Given the description of an element on the screen output the (x, y) to click on. 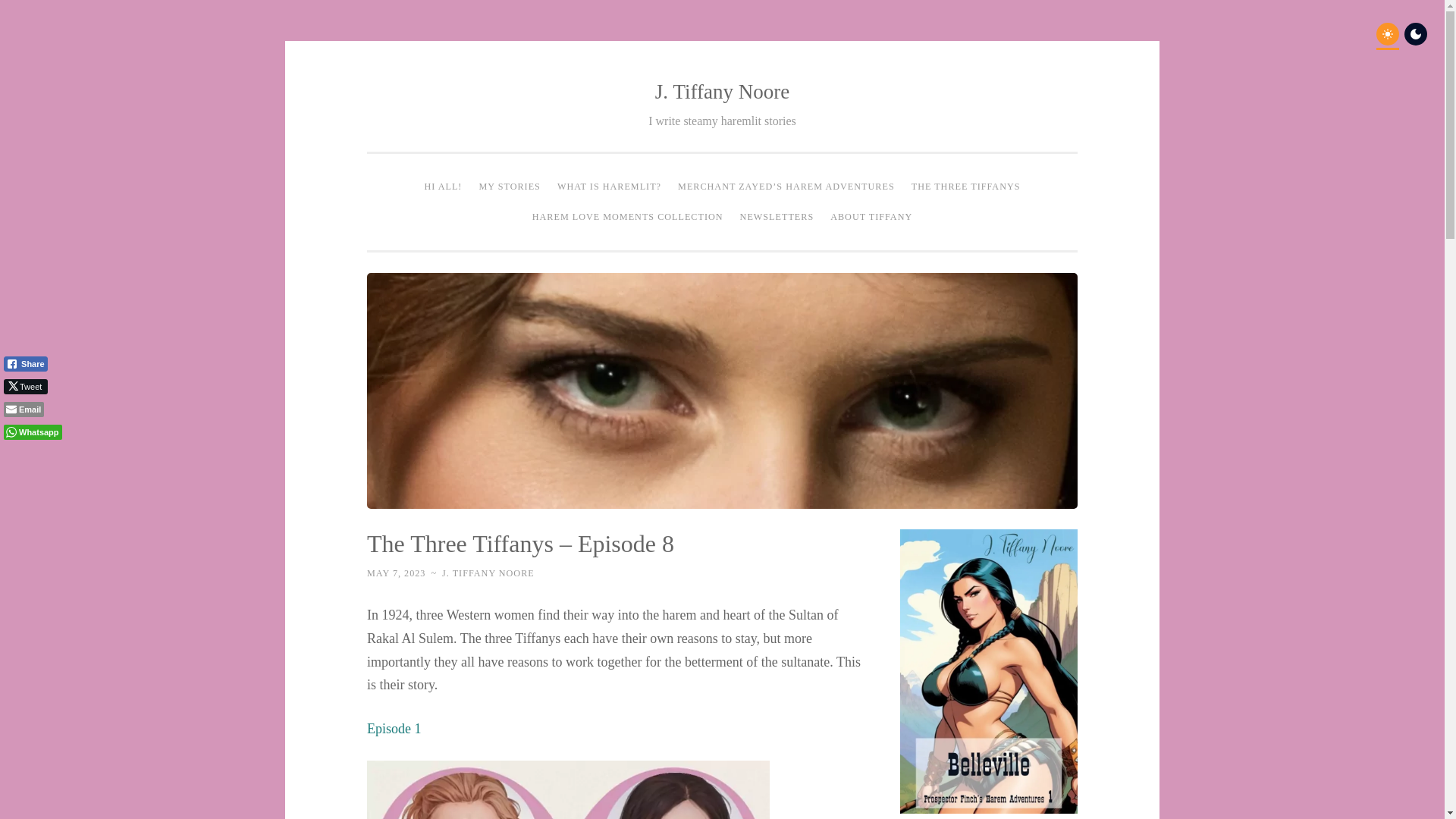
NEWSLETTERS (777, 216)
THE THREE TIFFANYS (965, 186)
J. Tiffany Noore (722, 91)
ABOUT TIFFANY (871, 216)
WHAT IS HAREMLIT? (609, 186)
HI ALL! (442, 186)
HAREM LOVE MOMENTS COLLECTION (627, 216)
J. TIFFANY NOORE (488, 573)
Episode 1 (394, 728)
MY STORIES (509, 186)
MAY 7, 2023 (395, 573)
